Given the description of an element on the screen output the (x, y) to click on. 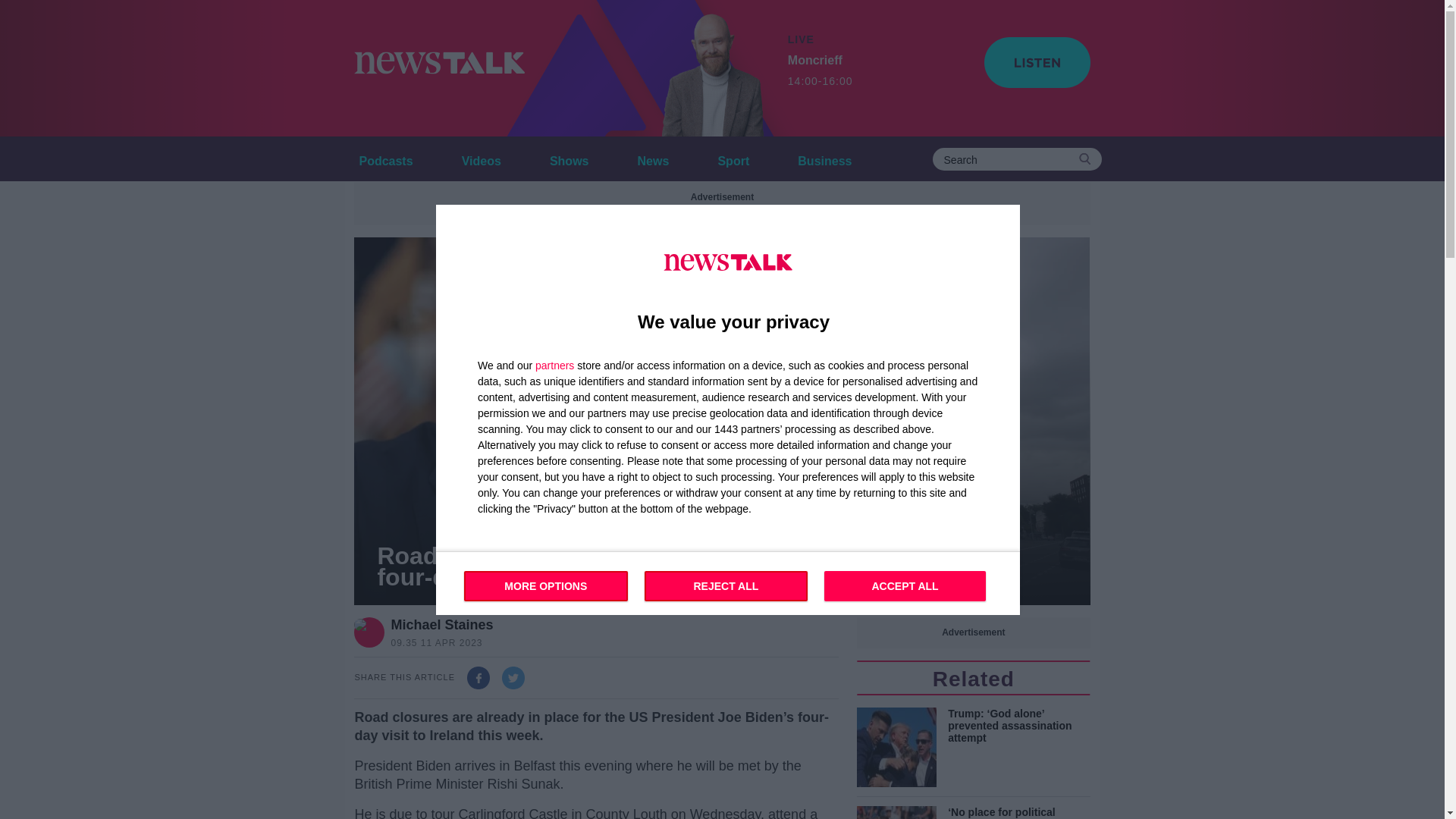
Michael Staines (441, 624)
REJECT ALL (726, 585)
Videos (481, 158)
ACCEPT ALL (904, 585)
Business (824, 158)
partners (554, 364)
Shows (569, 158)
Sport (820, 70)
Videos (733, 158)
Shows (481, 158)
News (569, 158)
Sport (653, 158)
Podcasts (733, 158)
